Given the description of an element on the screen output the (x, y) to click on. 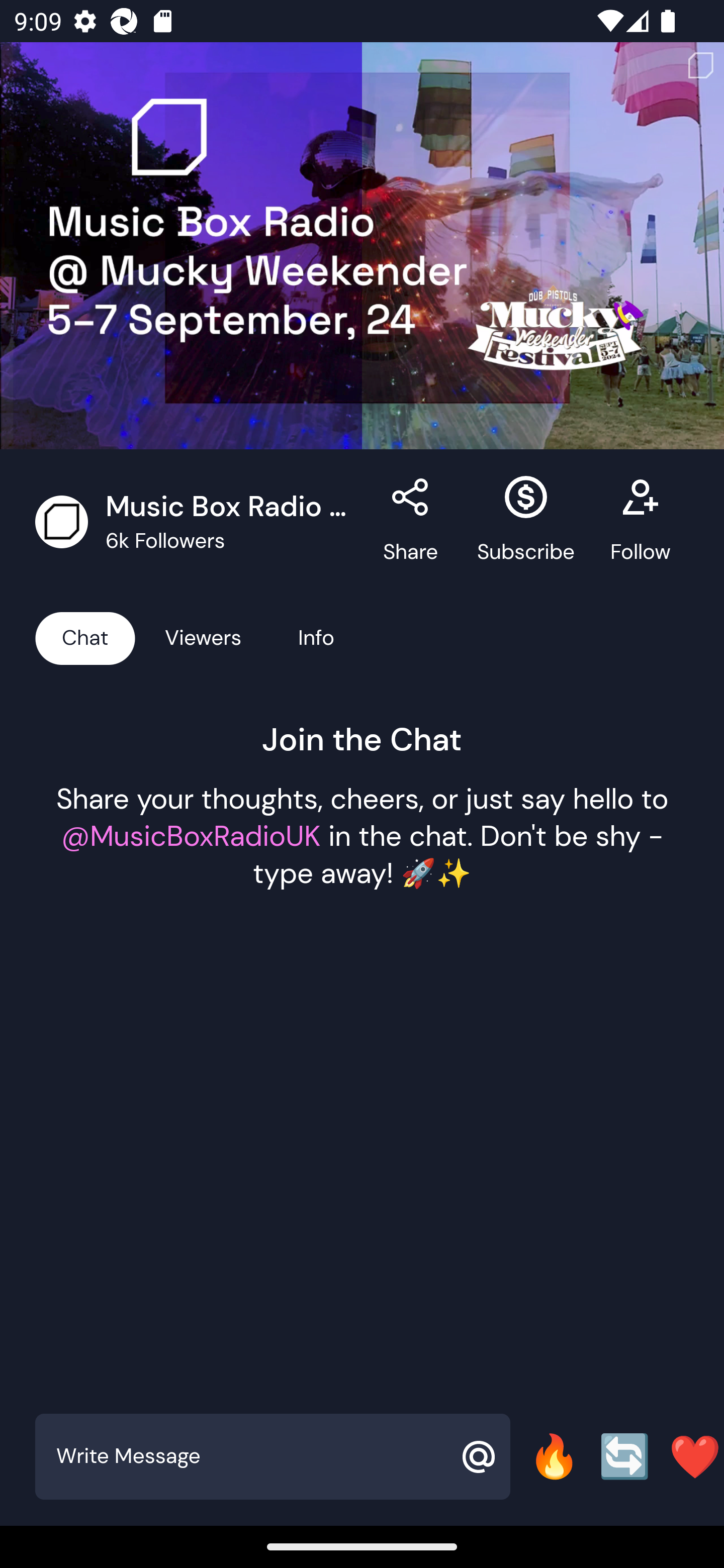
Share (410, 521)
Subscribe (525, 521)
Follow (640, 521)
Chat (84, 636)
Viewers (203, 636)
Info (316, 636)
Write Message (250, 1456)
🔥 (553, 1456)
🔄 (624, 1456)
❤️ (694, 1456)
